Given the description of an element on the screen output the (x, y) to click on. 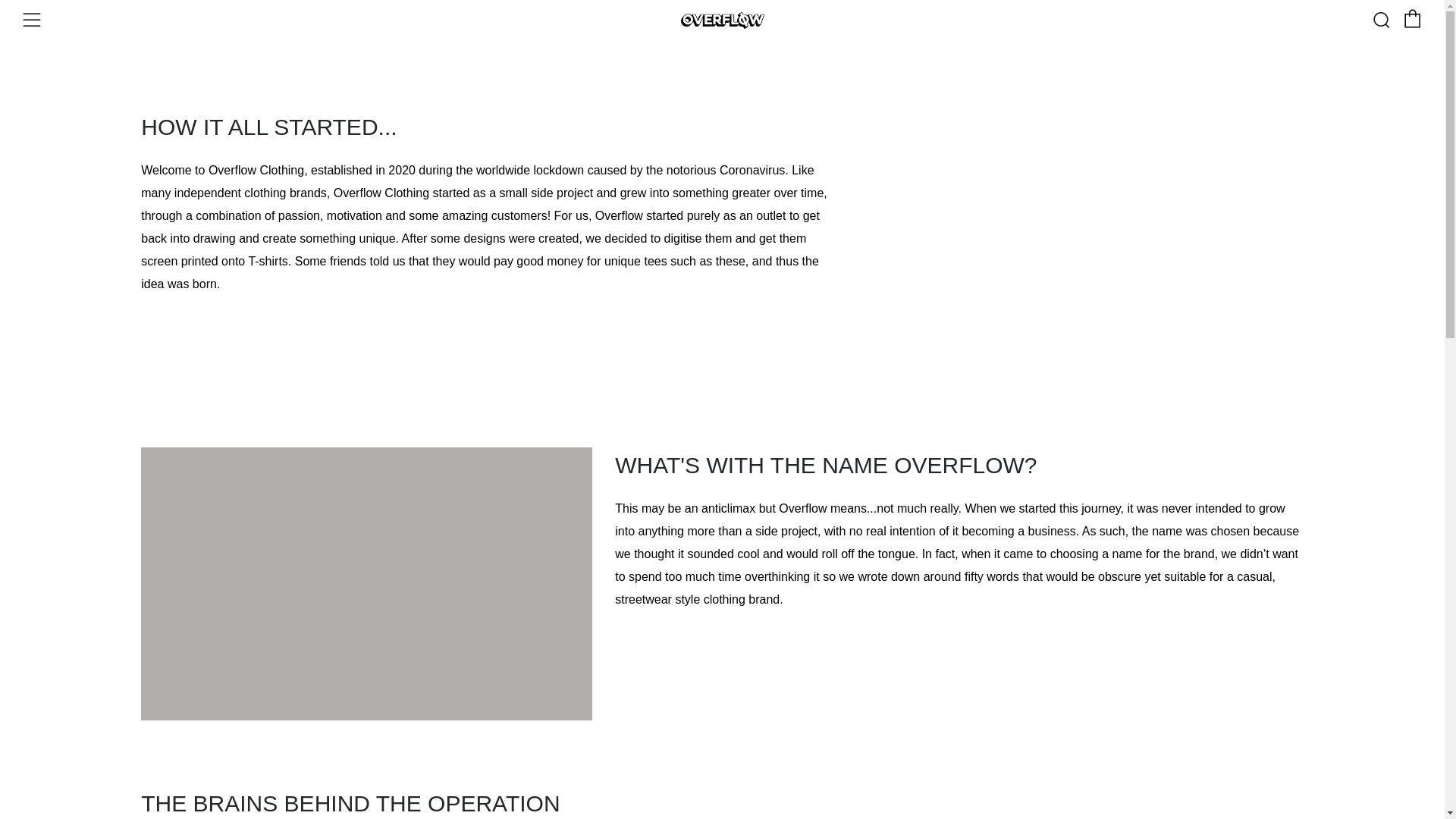
Search (1380, 19)
Menu (31, 20)
Cart (1412, 18)
